Given the description of an element on the screen output the (x, y) to click on. 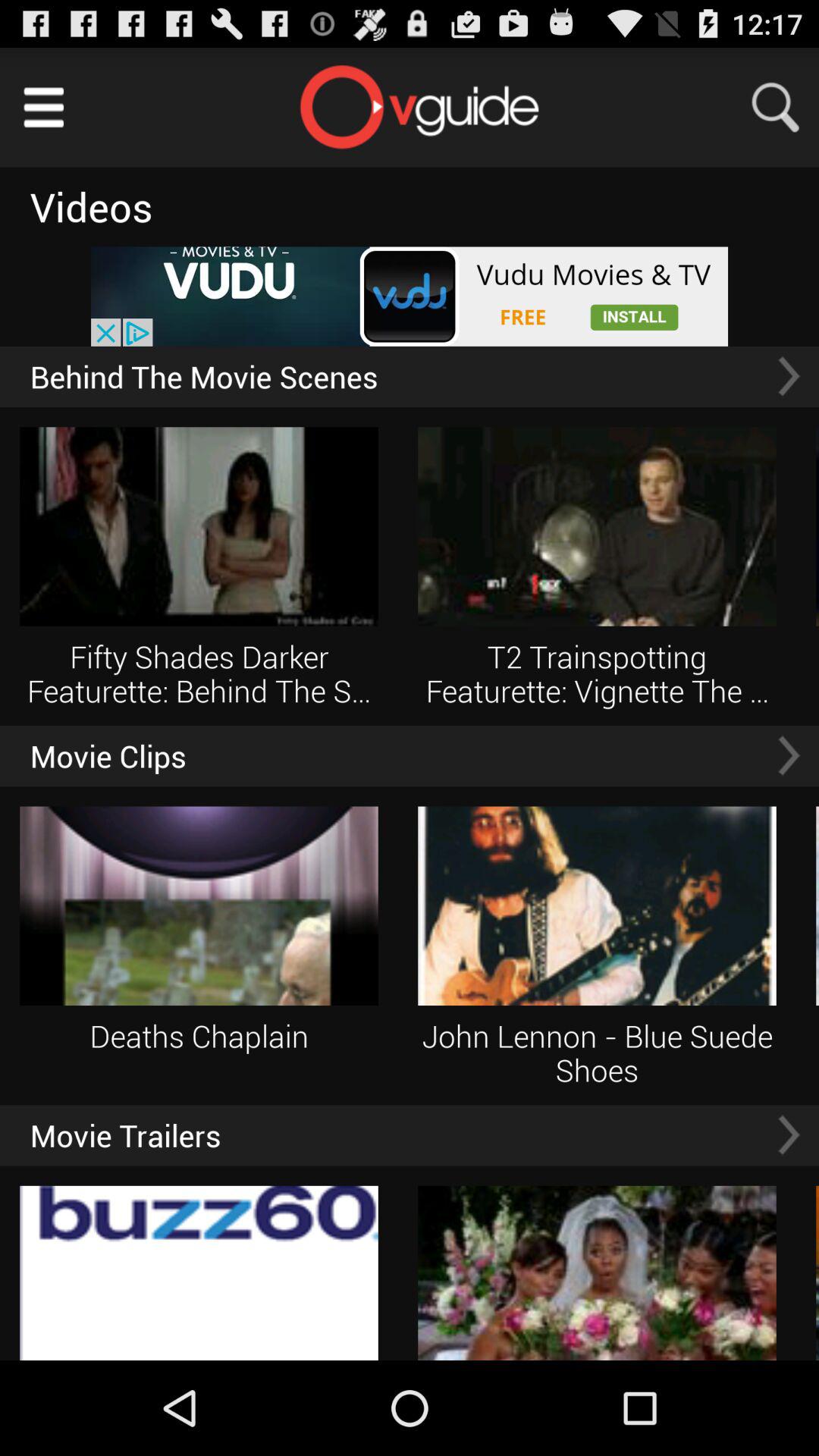
go next (789, 755)
